Given the description of an element on the screen output the (x, y) to click on. 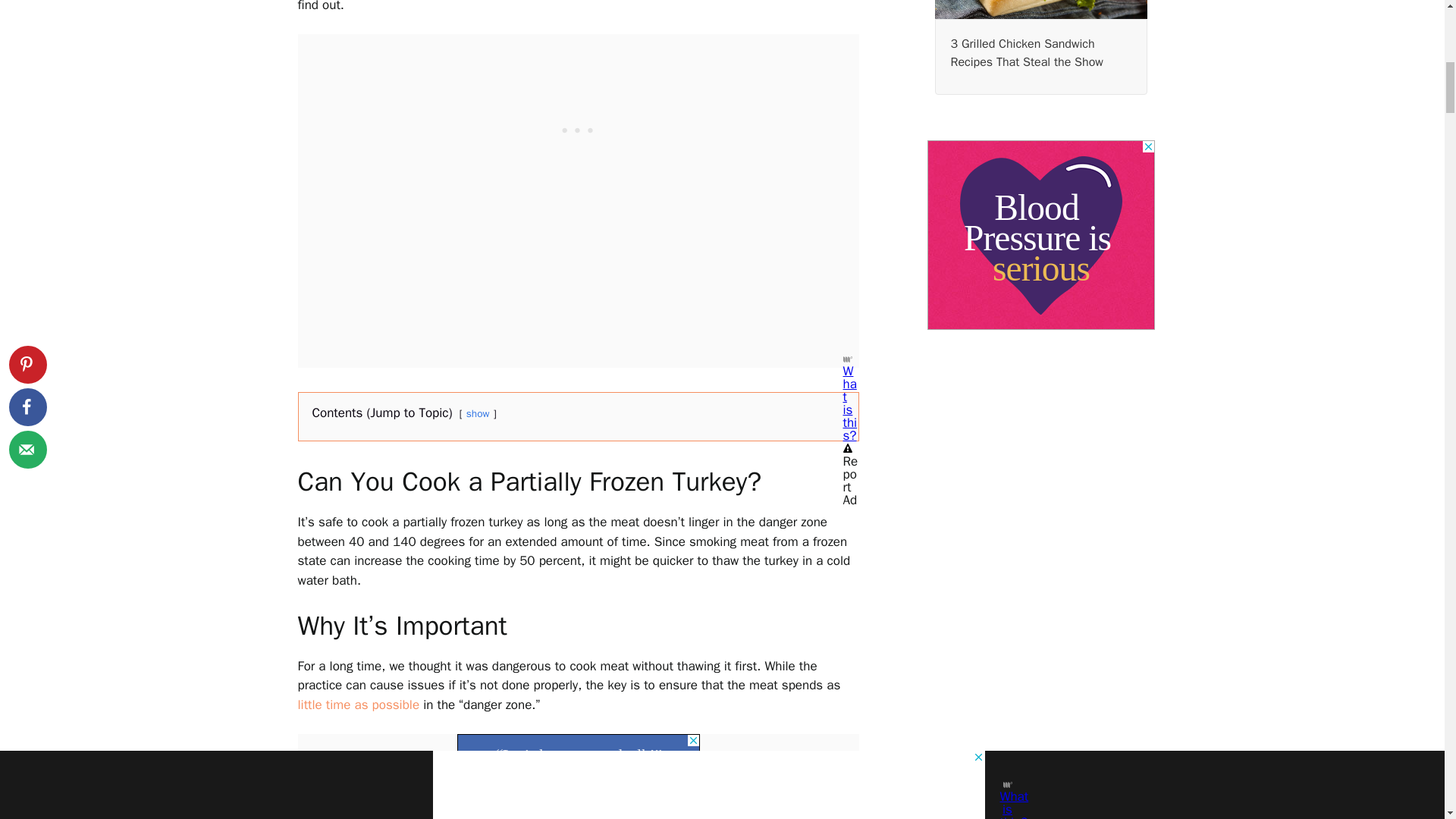
3rd party ad content (577, 128)
3rd party ad content (1040, 235)
3rd party ad content (577, 752)
